Given the description of an element on the screen output the (x, y) to click on. 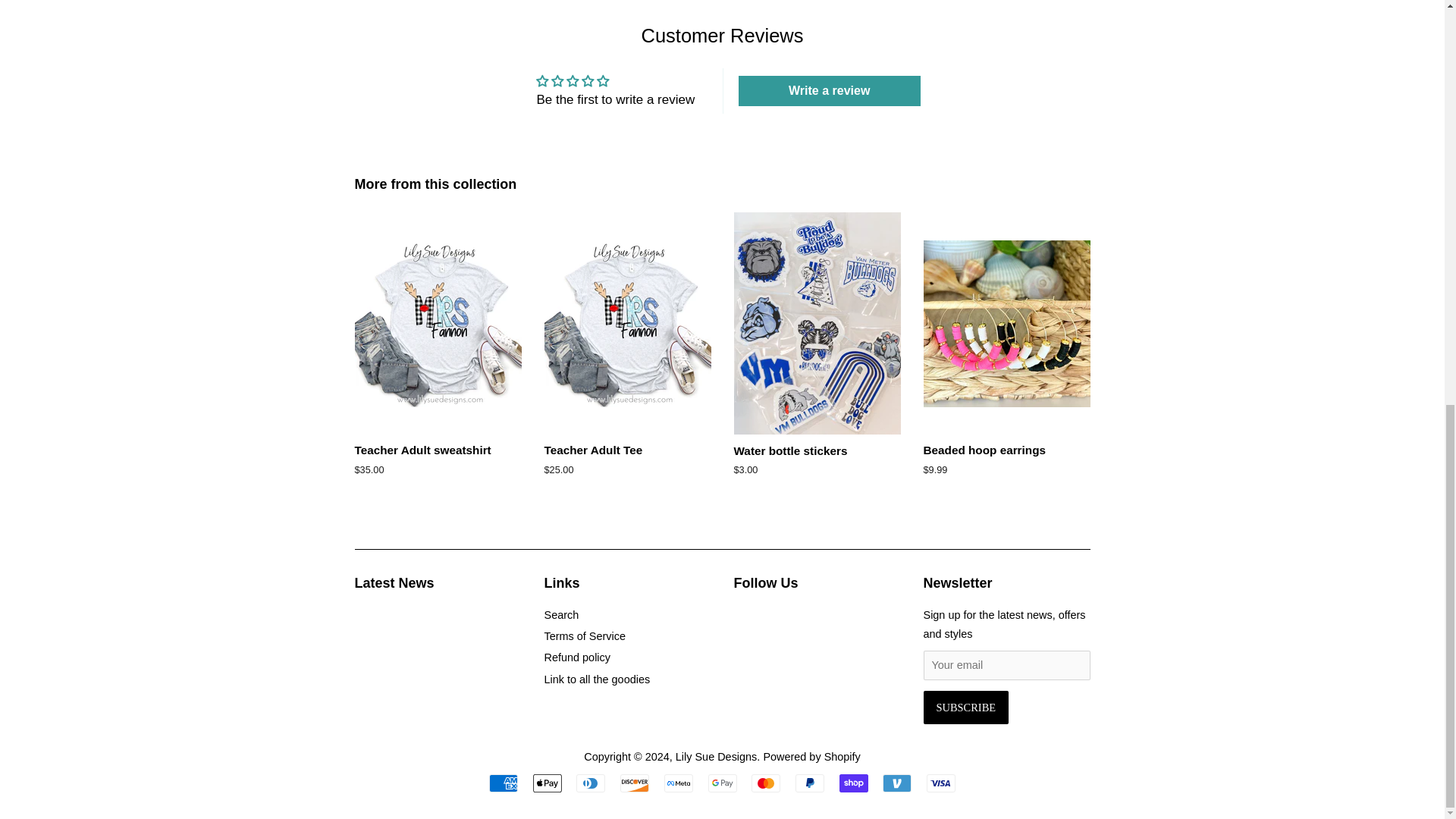
PayPal (809, 782)
Subscribe (966, 707)
Diners Club (590, 782)
Visa (940, 782)
Apple Pay (547, 782)
Mastercard (765, 782)
Google Pay (721, 782)
Meta Pay (678, 782)
Venmo (896, 782)
Discover (634, 782)
Shop Pay (853, 782)
American Express (503, 782)
Write a review (829, 91)
